Given the description of an element on the screen output the (x, y) to click on. 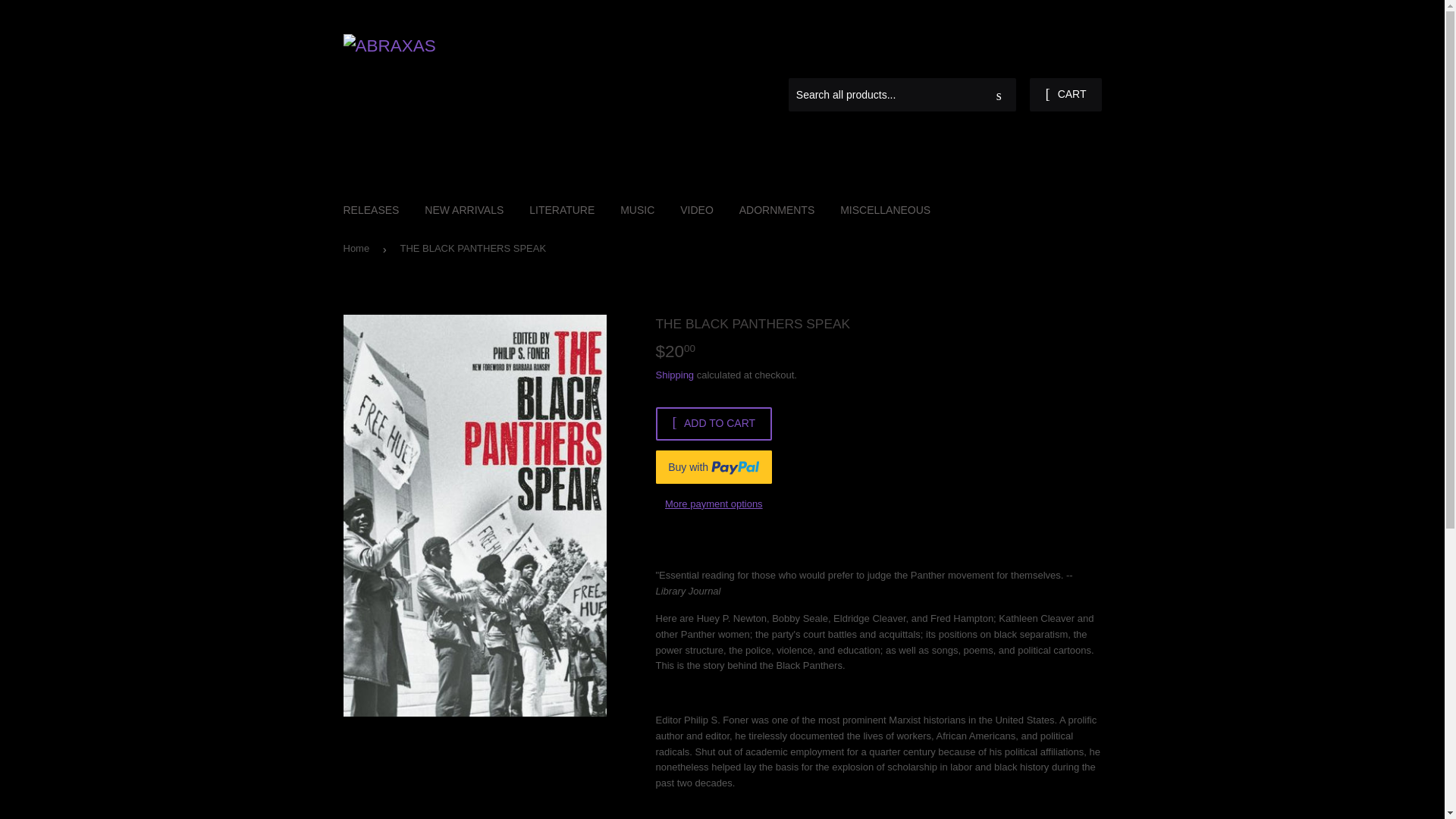
NEW ARRIVALS (464, 210)
ADD TO CART (713, 423)
LITERATURE (561, 210)
Search (998, 95)
MISCELLANEOUS (885, 210)
Shipping (674, 374)
ADORNMENTS (777, 210)
CART (1064, 94)
More payment options (713, 504)
RELEASES (370, 210)
VIDEO (696, 210)
MUSIC (636, 210)
